Given the description of an element on the screen output the (x, y) to click on. 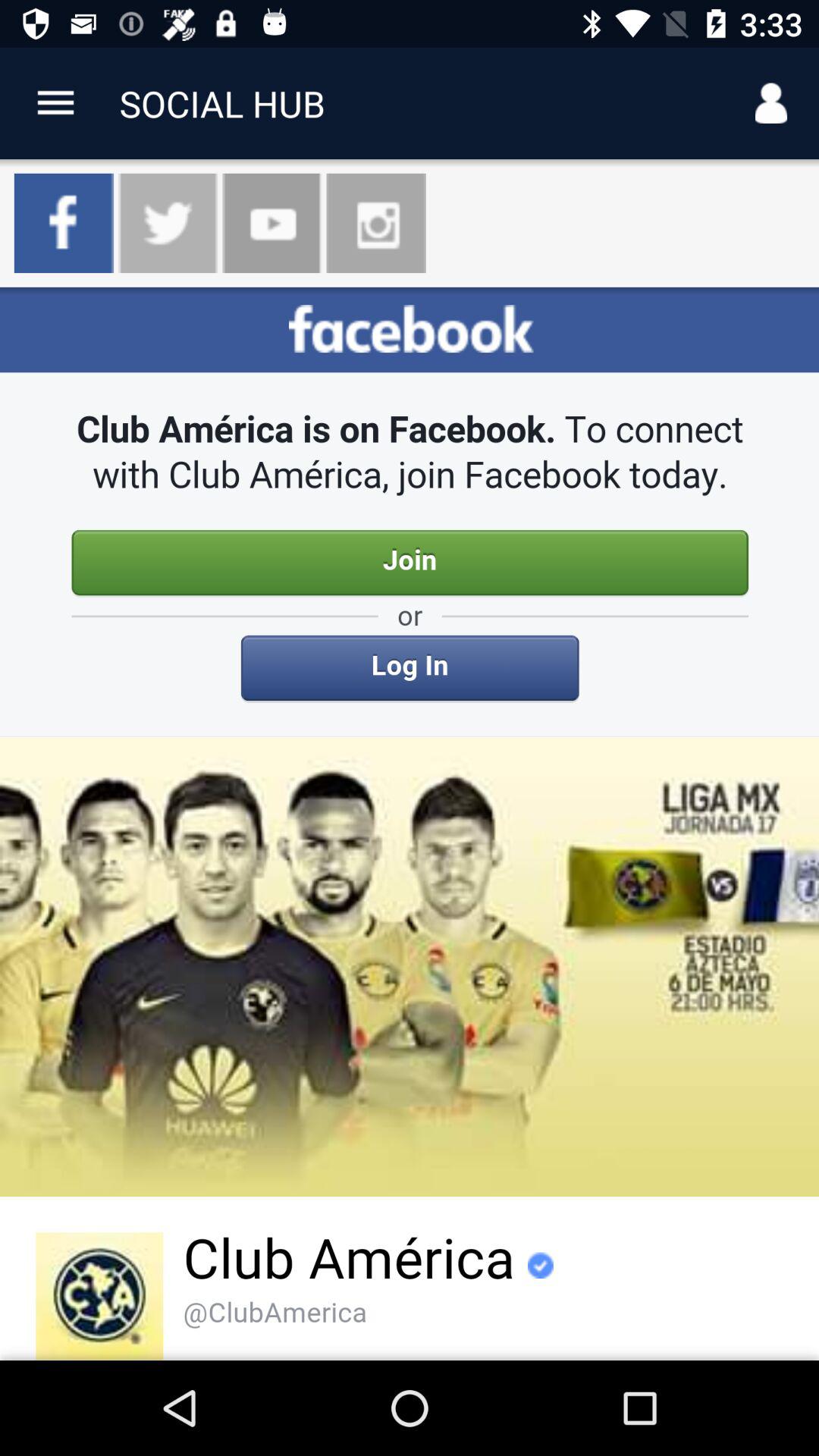
app open login (409, 823)
